Given the description of an element on the screen output the (x, y) to click on. 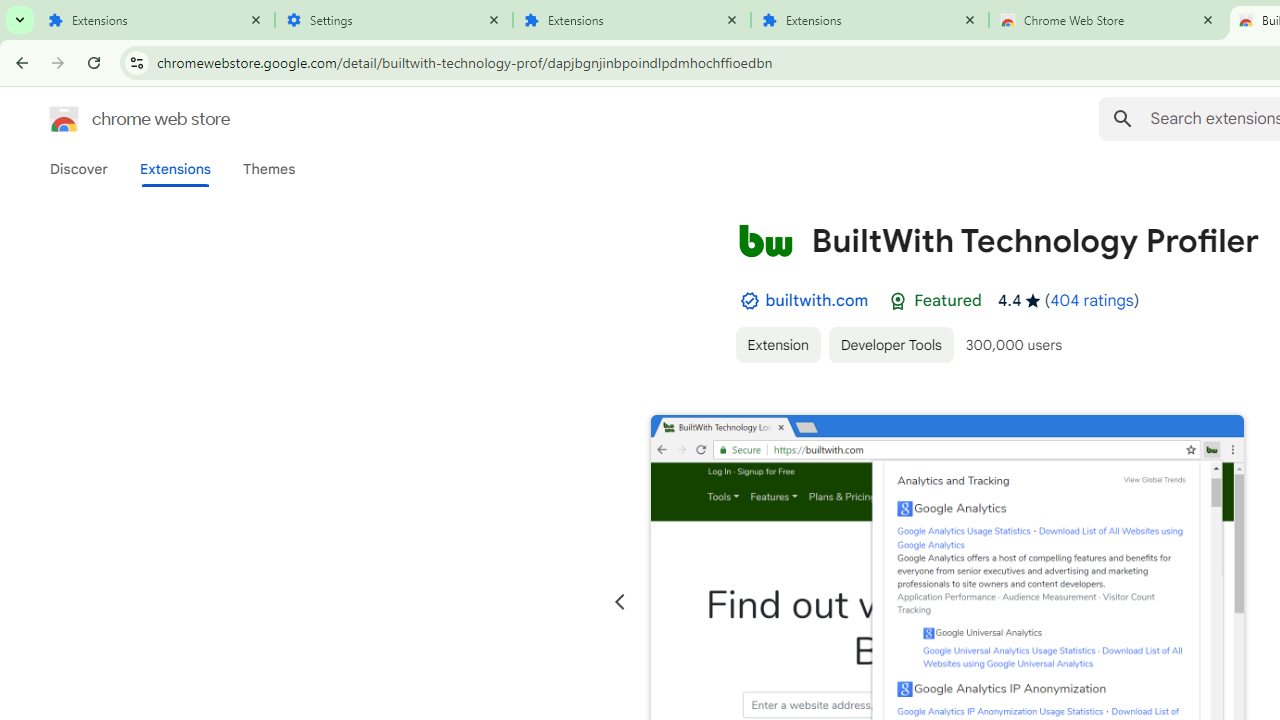
Chrome Web Store (1108, 20)
Previous slide (619, 601)
builtwith.com (817, 300)
Settings (394, 20)
Featured Badge (898, 301)
